Given the description of an element on the screen output the (x, y) to click on. 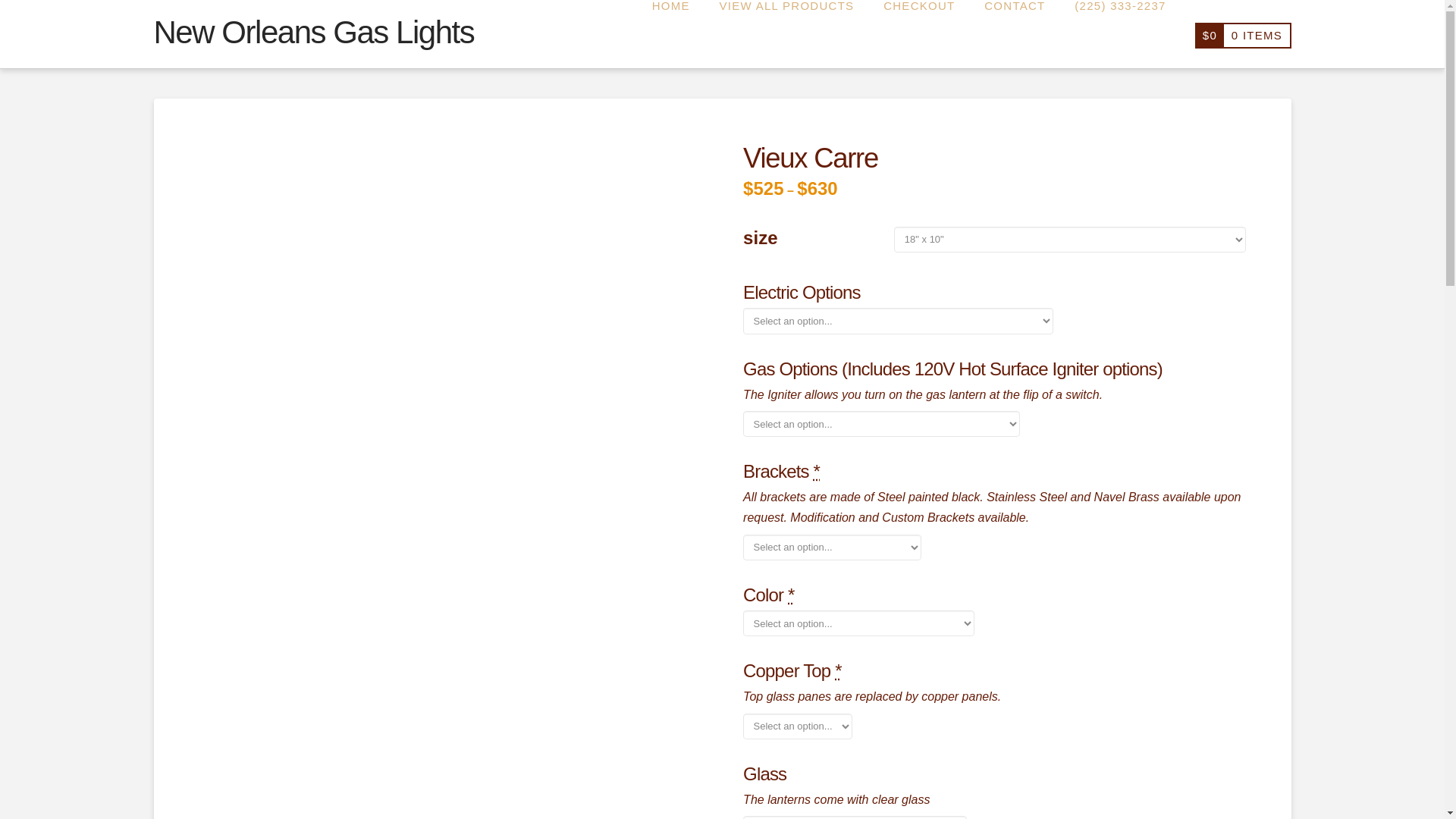
CONTACT (1014, 33)
New Orleans Gas Lights (313, 32)
CHECKOUT (918, 33)
HOME (670, 33)
VIEW ALL PRODUCTS (786, 33)
